Given the description of an element on the screen output the (x, y) to click on. 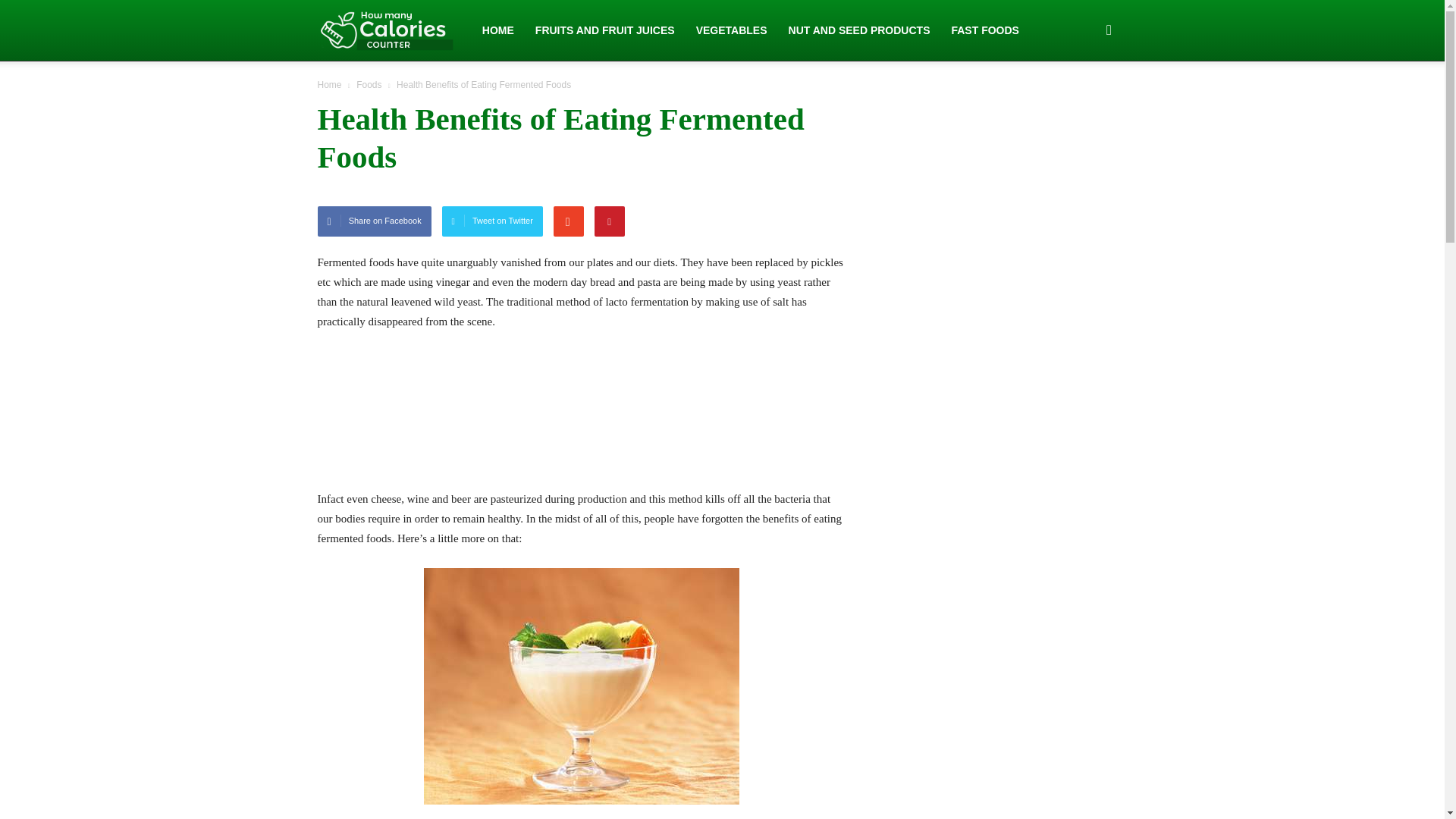
Share on Facebook (373, 221)
FAST FOODS (984, 30)
howmanycaloriescounter.com (385, 30)
VEGETABLES (731, 30)
NUT AND SEED PRODUCTS (858, 30)
Tweet on Twitter (492, 221)
View all posts in Foods (370, 84)
FRUITS AND FRUIT JUICES (604, 30)
How Many Calories Counter (393, 30)
Home (328, 84)
Foods (370, 84)
